Given the description of an element on the screen output the (x, y) to click on. 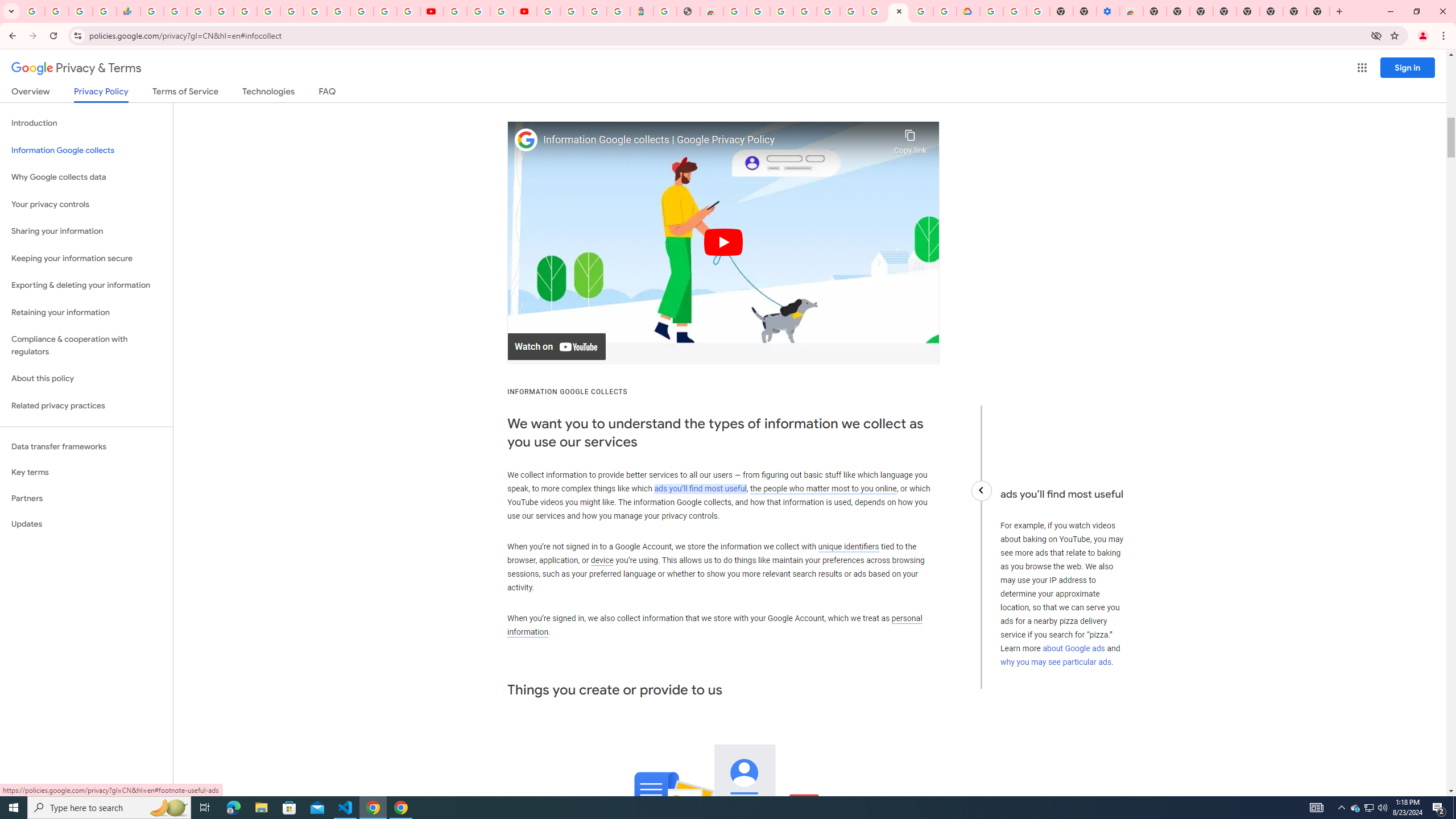
Retaining your information (86, 312)
Chrome Web Store - Household (711, 11)
New Tab (1155, 11)
Sign in - Google Accounts (827, 11)
personal information (714, 625)
the people who matter most to you online (822, 488)
Turn cookies on or off - Computer - Google Account Help (1038, 11)
Atour Hotel - Google hotels (641, 11)
YouTube (431, 11)
